Given the description of an element on the screen output the (x, y) to click on. 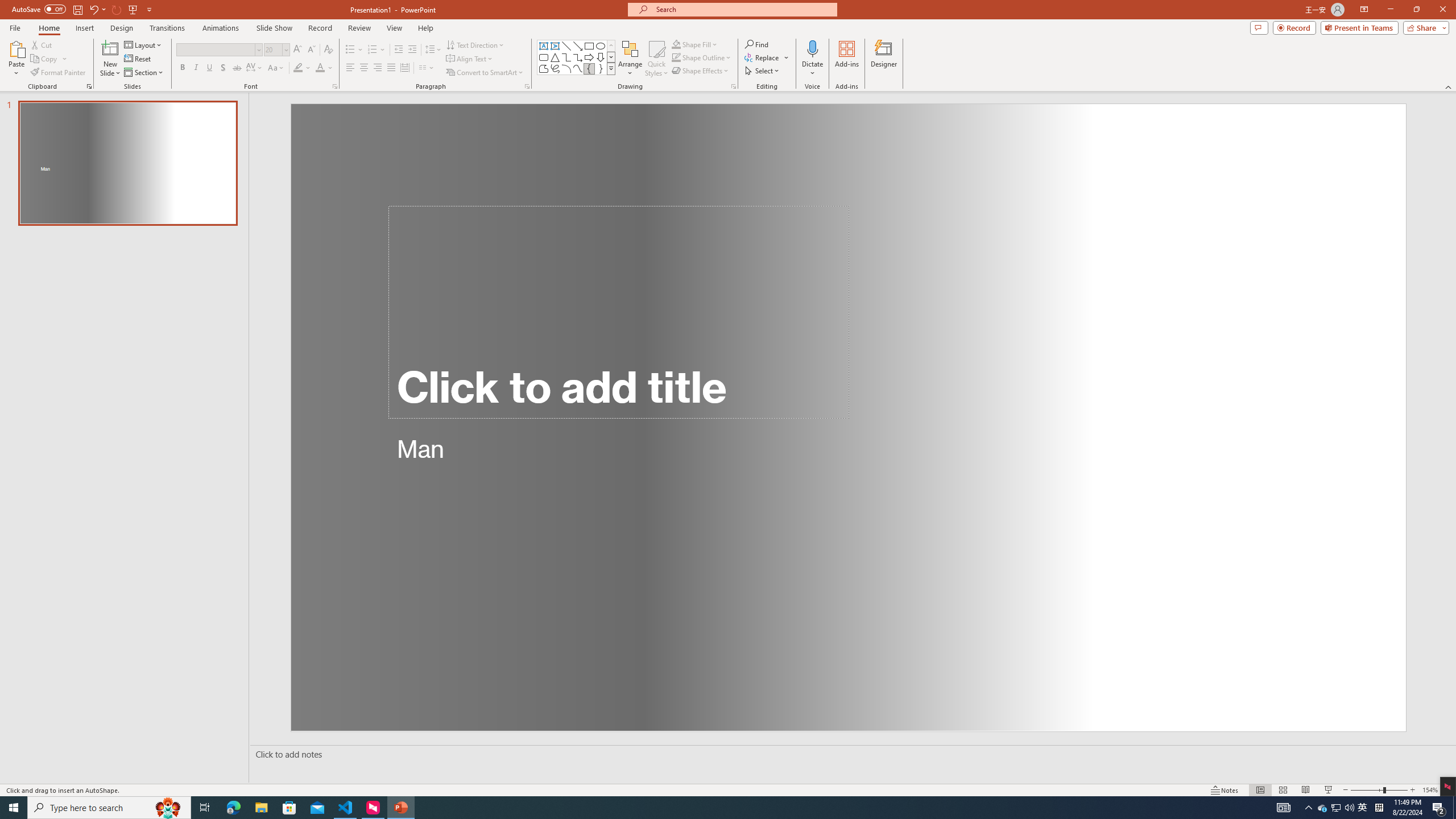
Section (144, 72)
Left Brace (589, 68)
Zoom 154% (1430, 790)
Line Spacing (433, 49)
Increase Font Size (297, 49)
Reset (138, 58)
Center (363, 67)
Underline (209, 67)
Align Left (349, 67)
